Given the description of an element on the screen output the (x, y) to click on. 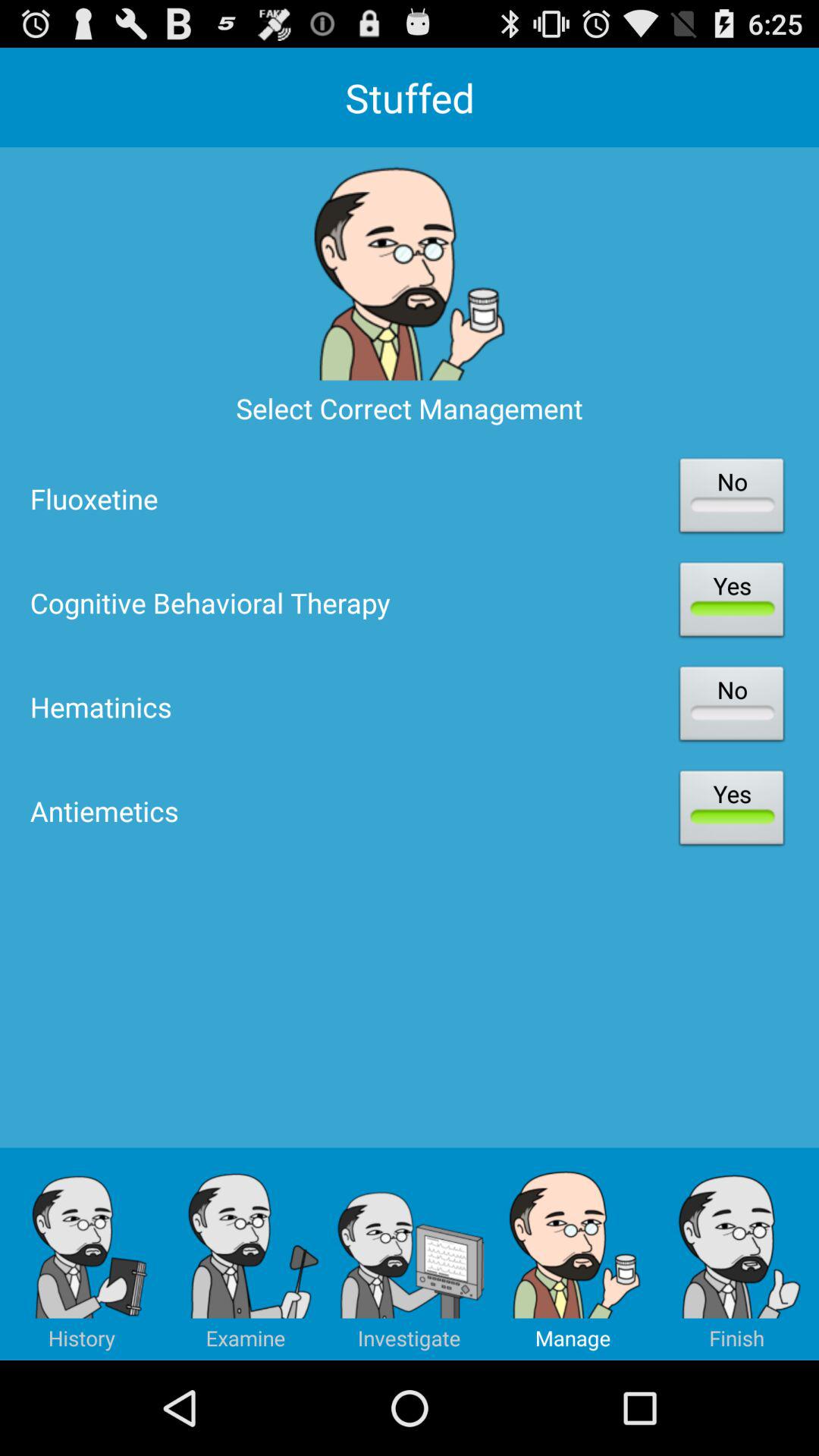
choose icon at the bottom (409, 1253)
